Given the description of an element on the screen output the (x, y) to click on. 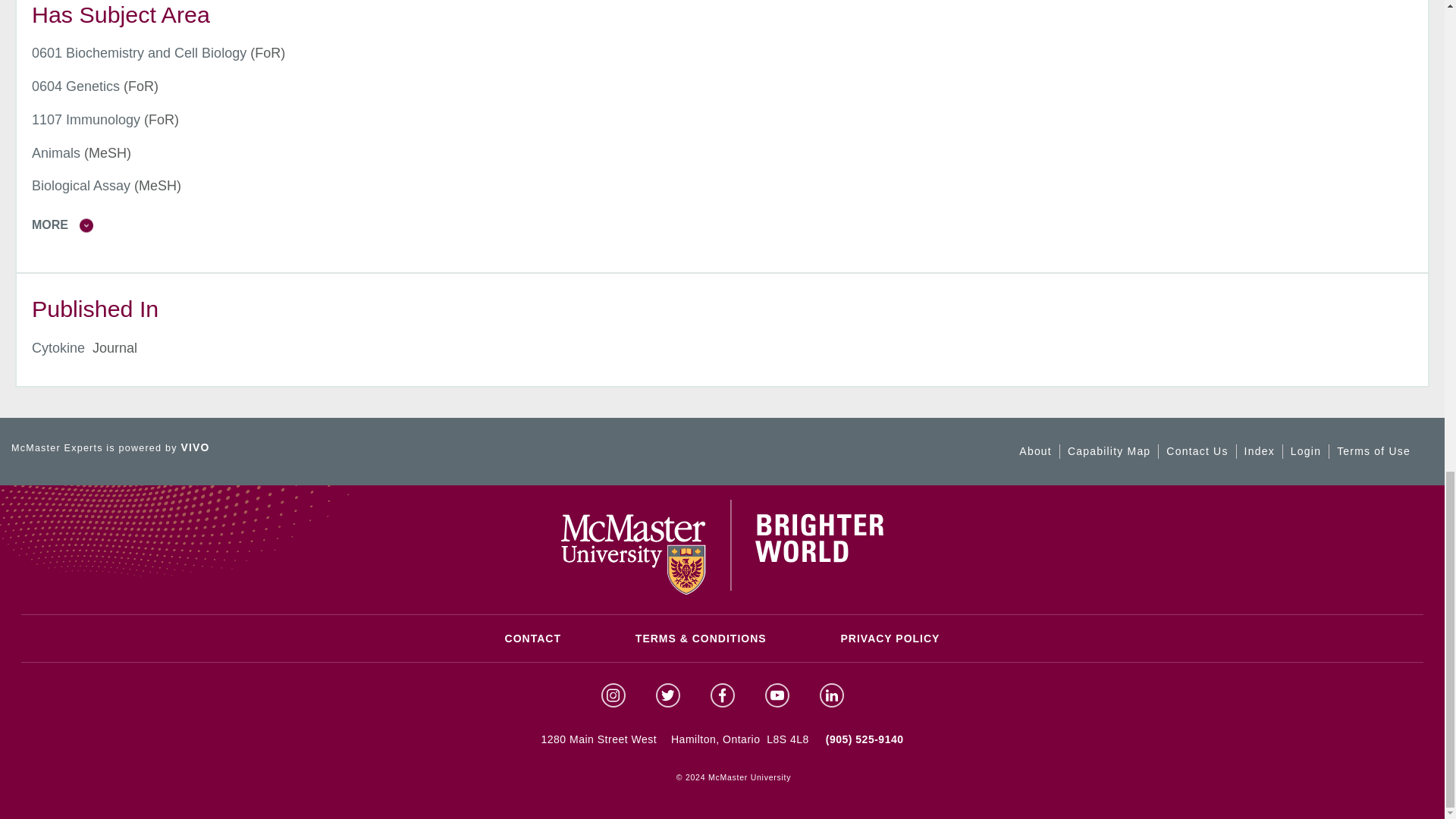
concept name (85, 119)
concept name (75, 86)
concept name (139, 52)
